Given the description of an element on the screen output the (x, y) to click on. 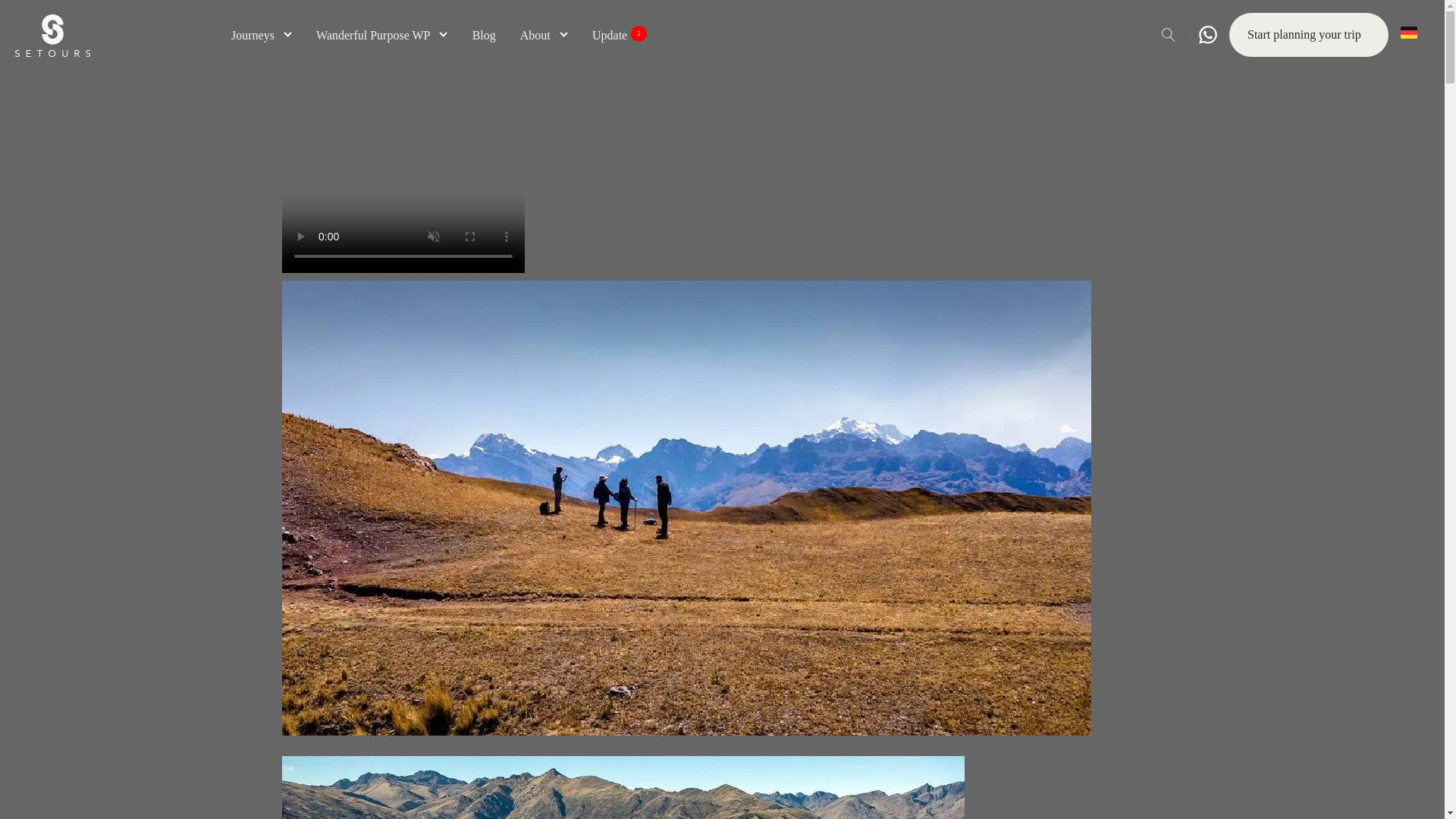
Journeys (261, 34)
Wanderful Purpose WP (381, 34)
Search (32, 20)
About (543, 34)
Blog (483, 34)
